Given the description of an element on the screen output the (x, y) to click on. 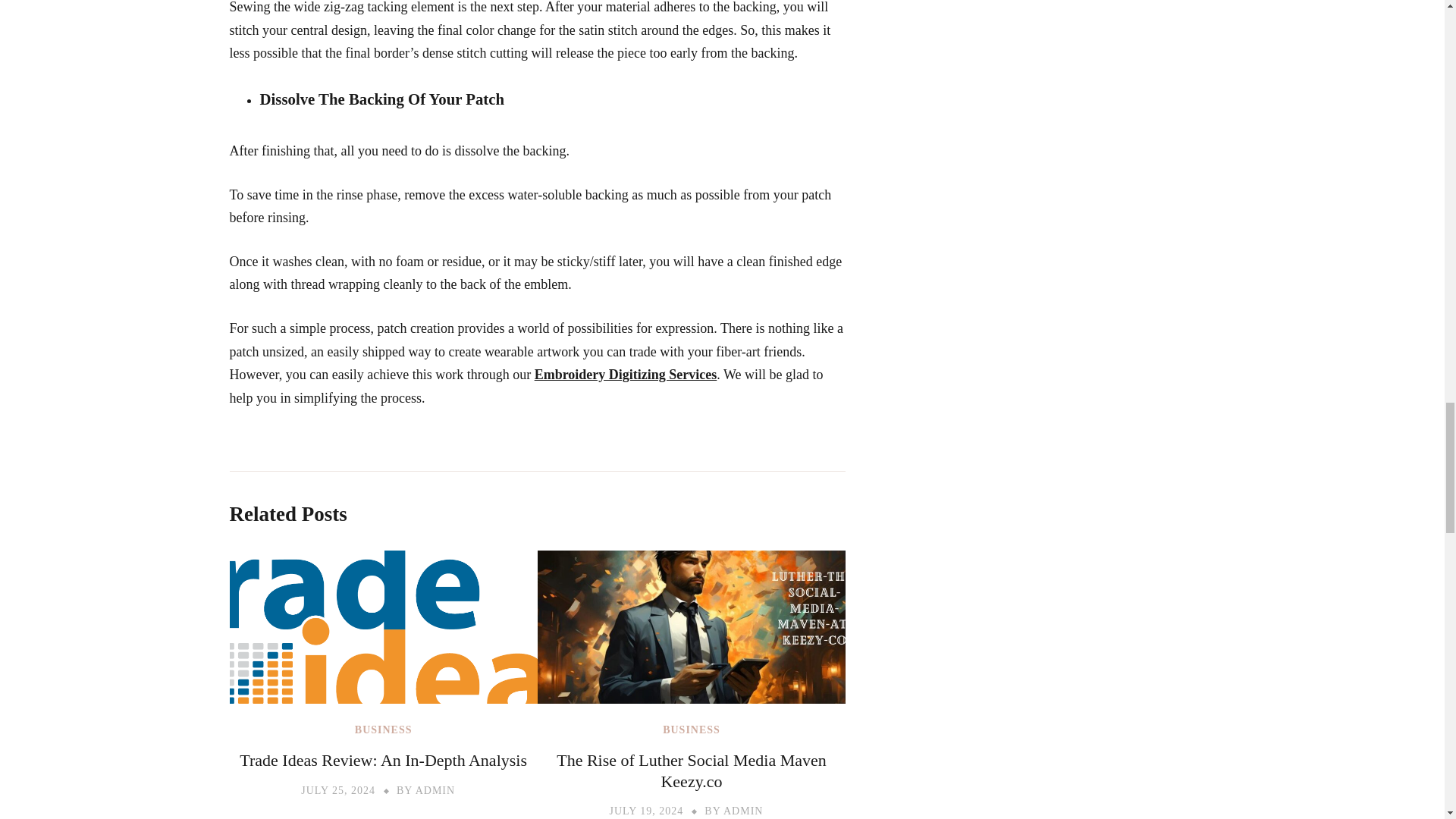
BUSINESS (691, 729)
The Rise of Luther Social Media Maven Keezy.co (691, 771)
Trade Ideas Review: An In-Depth Analysis (383, 760)
JULY 19, 2024 (647, 810)
BUSINESS (383, 729)
JULY 25, 2024 (338, 790)
Embroidery Digitizing Services (625, 374)
ADMIN (434, 790)
